Given the description of an element on the screen output the (x, y) to click on. 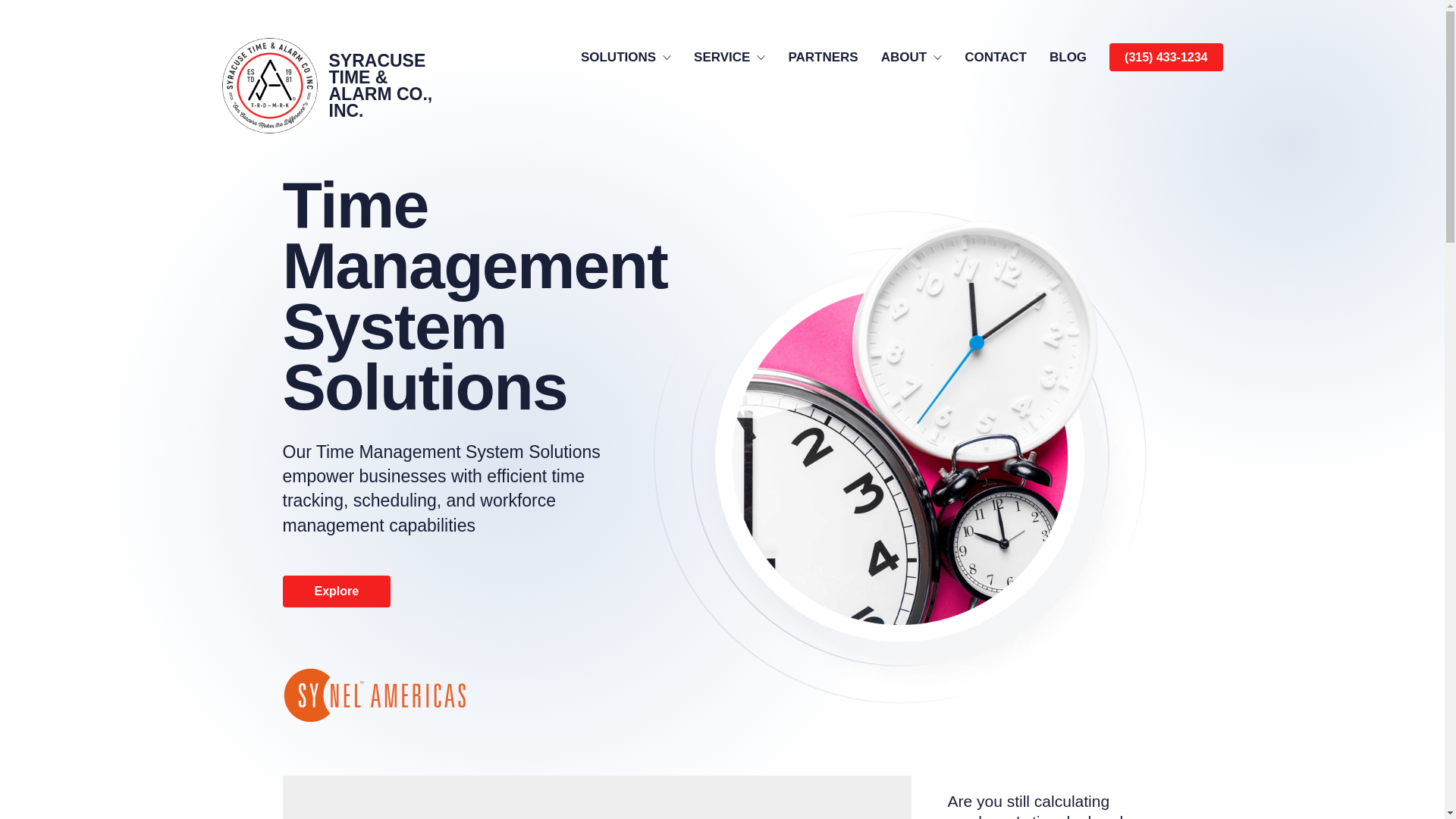
PARTNERS (822, 56)
SERVICE (729, 56)
CONTACT (994, 56)
ABOUT (911, 56)
Explore (336, 591)
SOLUTIONS (625, 56)
BLOG (1067, 56)
